Given the description of an element on the screen output the (x, y) to click on. 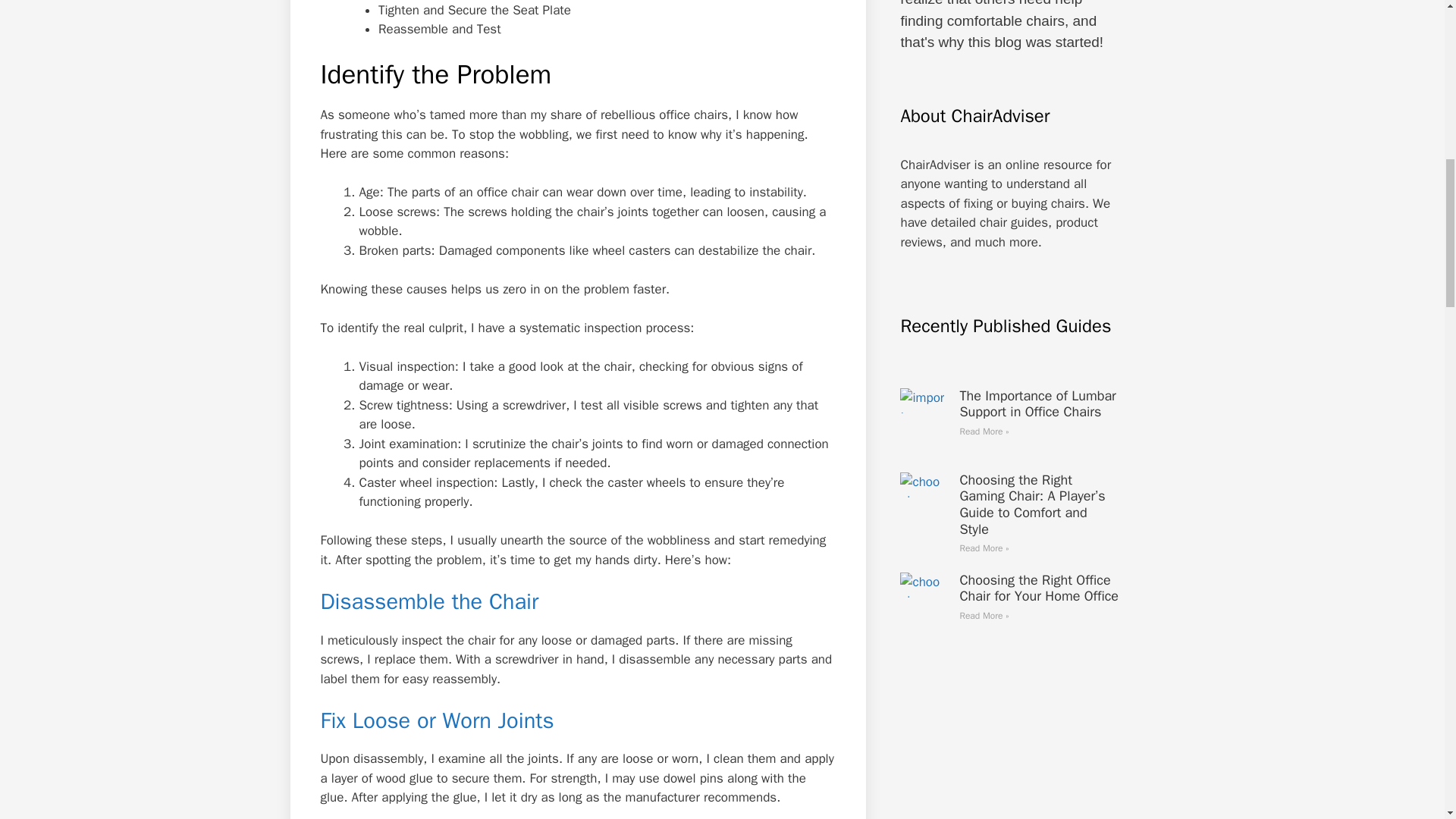
Scroll back to top (1406, 720)
The Importance of Lumbar Support in Office Chairs (1037, 403)
Choosing the Right Office Chair for Your Home Office (1038, 588)
